Given the description of an element on the screen output the (x, y) to click on. 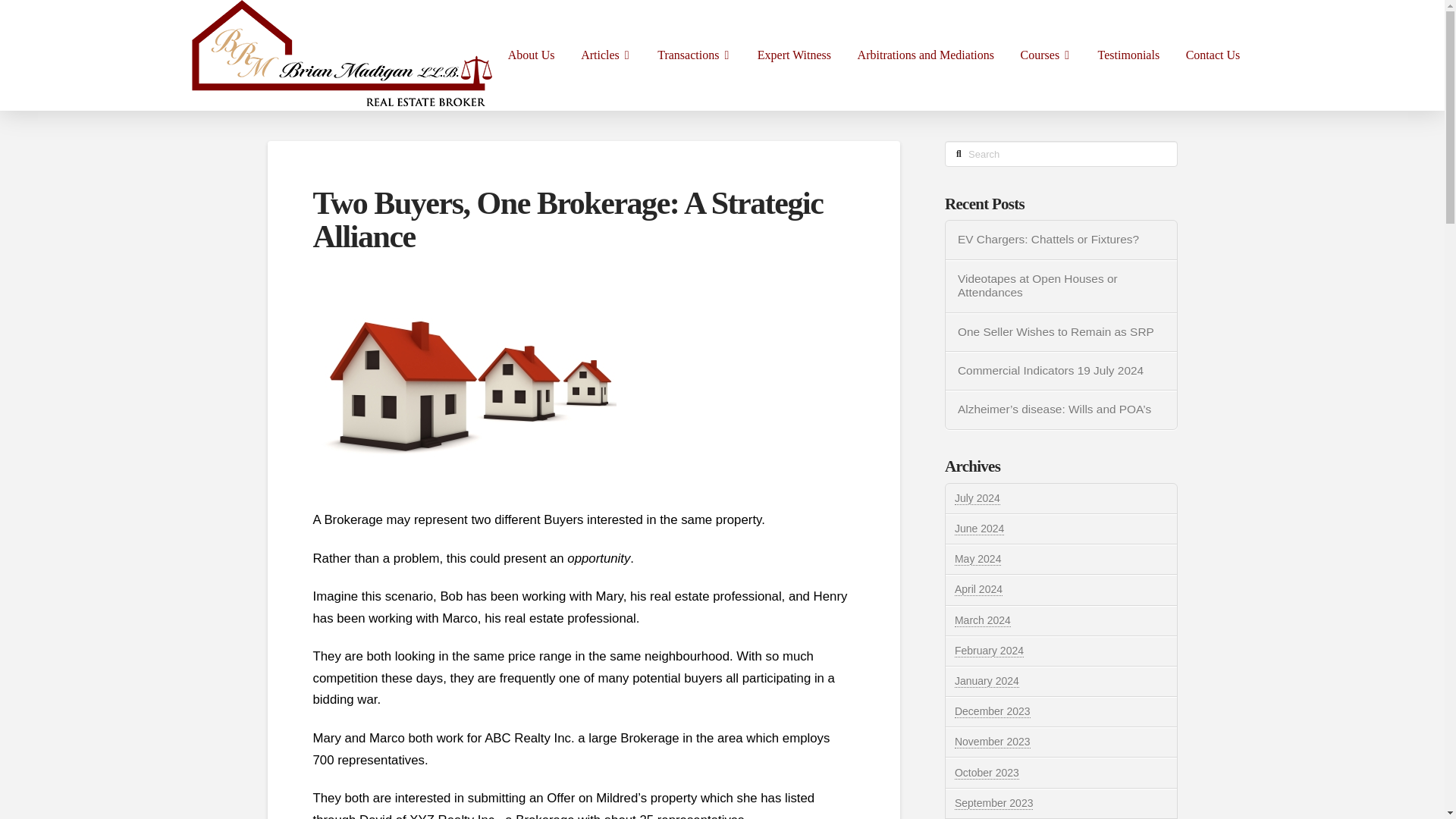
Expert Witness (794, 54)
About Us (531, 54)
Courses (1045, 54)
Transactions (694, 54)
Arbitrations and Mediations (925, 54)
Articles (606, 54)
Contact Us (1212, 54)
Testimonials (1128, 54)
